Given the description of an element on the screen output the (x, y) to click on. 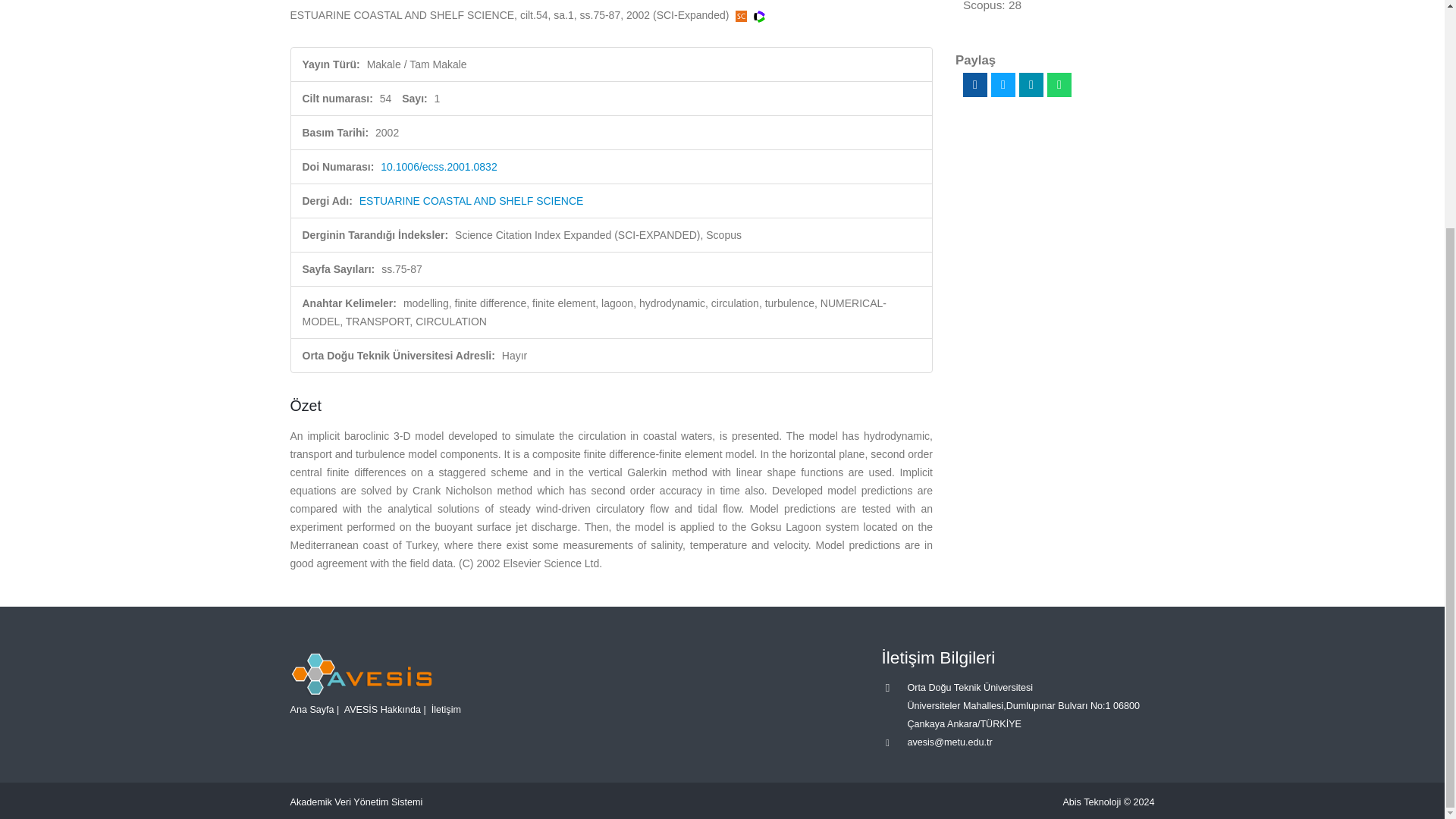
Ana Sayfa (311, 708)
Abis Teknoloji (1091, 801)
ESTUARINE COASTAL AND SHELF SCIENCE (471, 200)
